Given the description of an element on the screen output the (x, y) to click on. 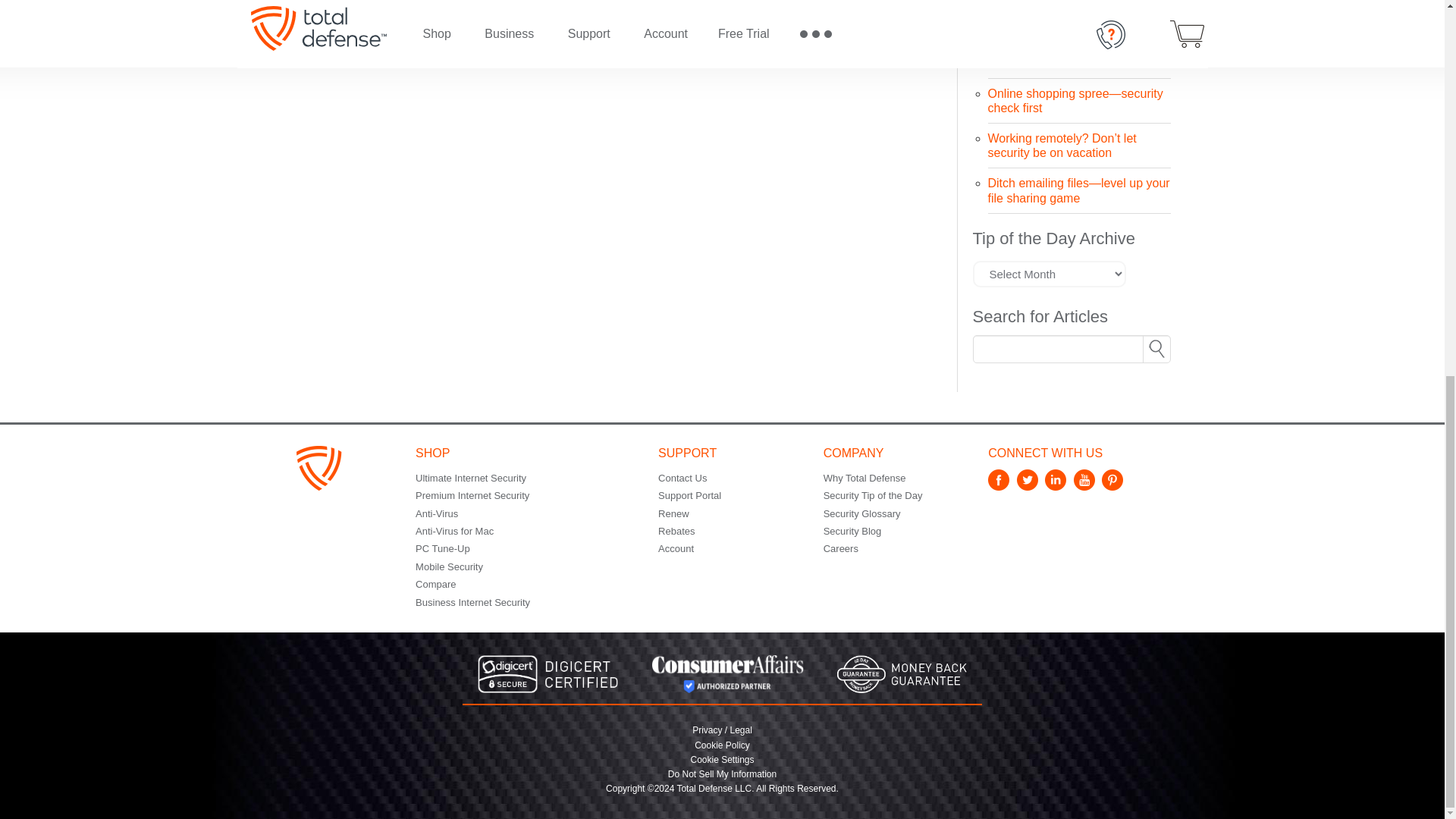
Pinterest (1114, 486)
YouTube (1086, 486)
Facebook (1000, 486)
Twitter (1029, 486)
LinkedIn (1057, 486)
